Given the description of an element on the screen output the (x, y) to click on. 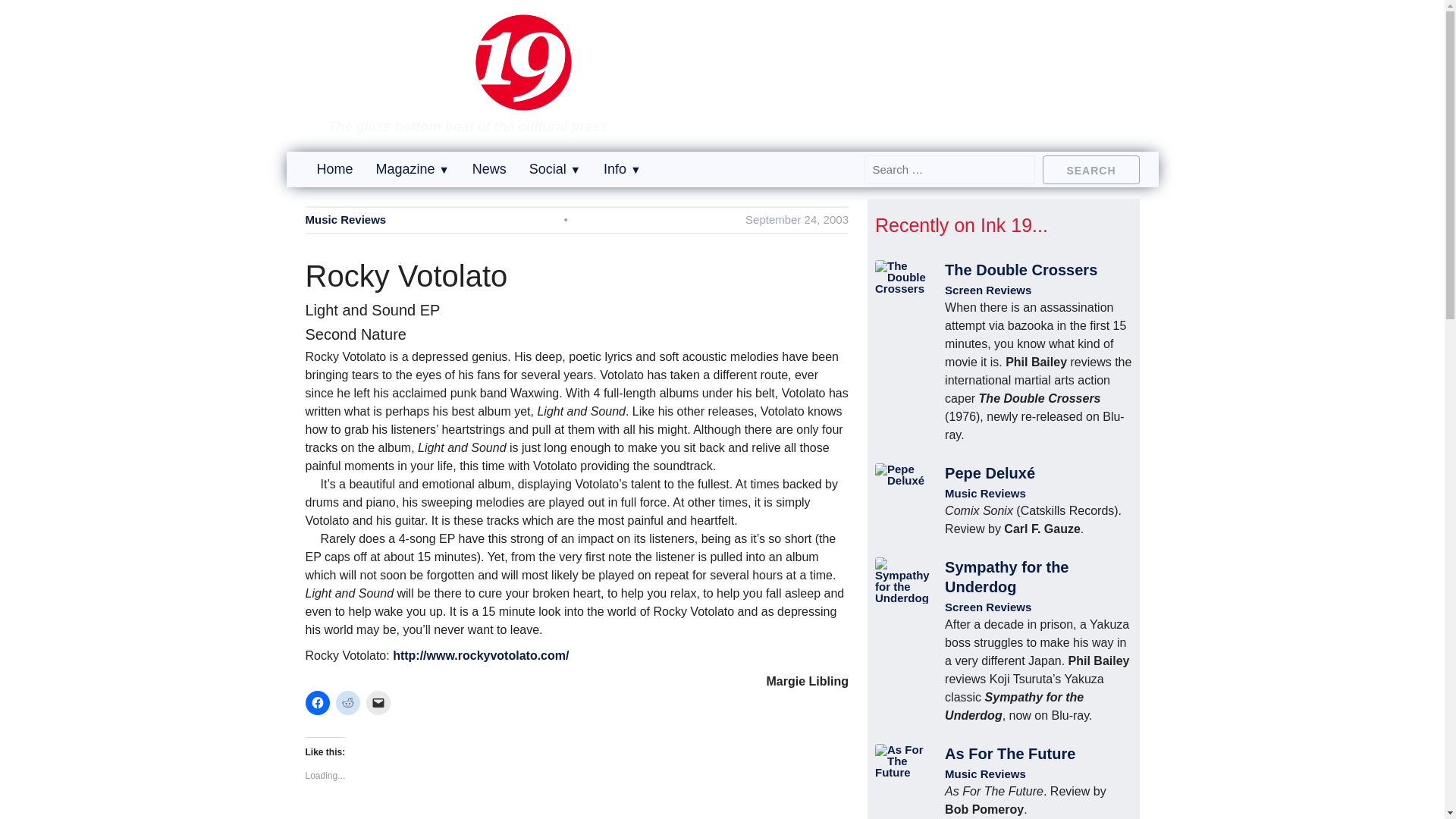
News (488, 168)
Search (1090, 168)
Ink 19 (471, 100)
Music Reviews (344, 220)
Info (622, 168)
Home (335, 168)
Search (1090, 168)
Social (554, 168)
Click to email a link to a friend (377, 702)
Search (1090, 168)
Click to share on Facebook (316, 702)
Magazine (412, 168)
Click to share on Reddit (346, 702)
